Given the description of an element on the screen output the (x, y) to click on. 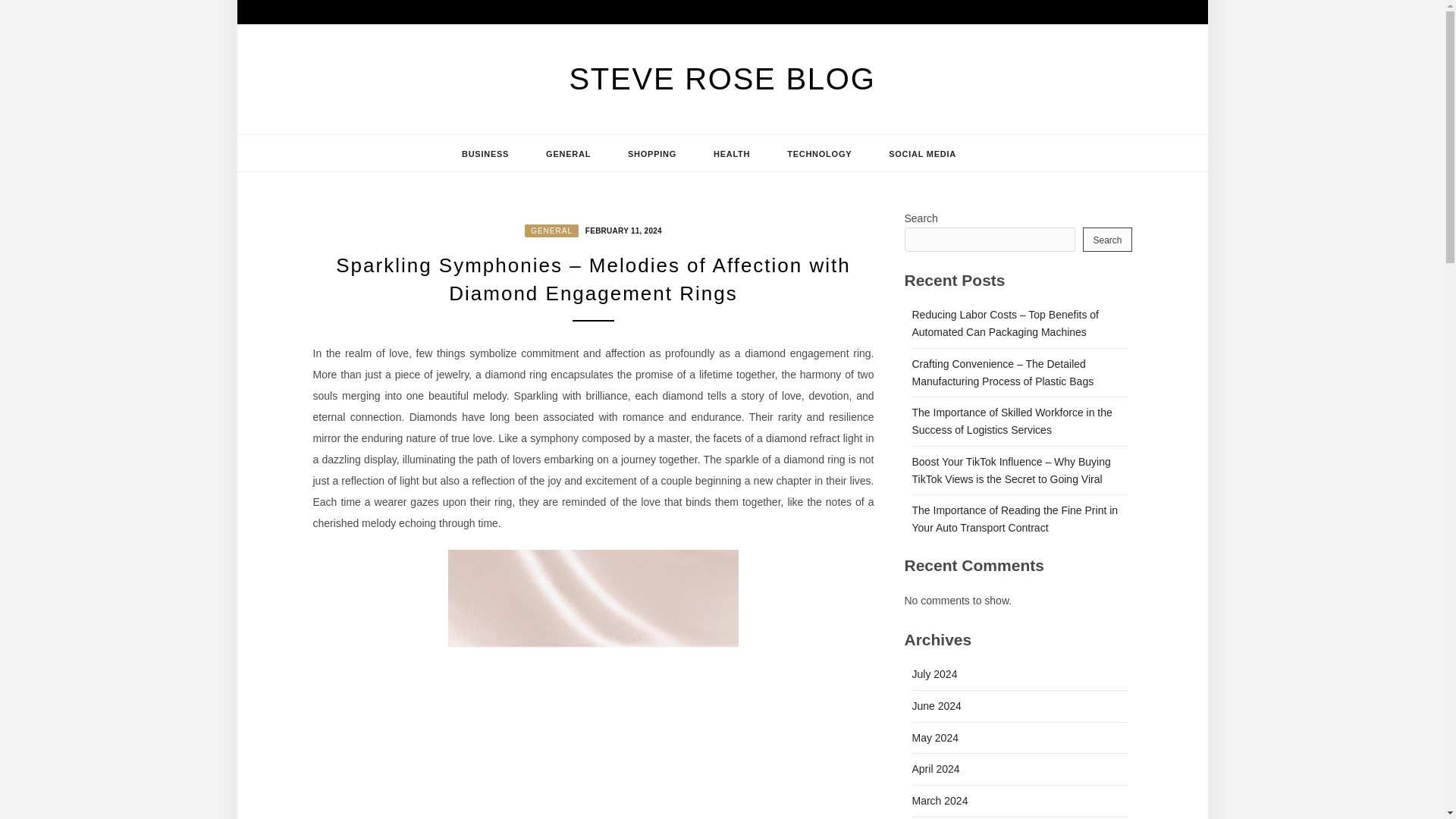
HEALTH (732, 153)
July 2024 (933, 674)
June 2024 (935, 705)
FEBRUARY 11, 2024 (621, 229)
STEVE ROSE BLOG (722, 78)
TECHNOLOGY (819, 153)
Search (1107, 239)
GENERAL (567, 153)
GENERAL (551, 230)
